Given the description of an element on the screen output the (x, y) to click on. 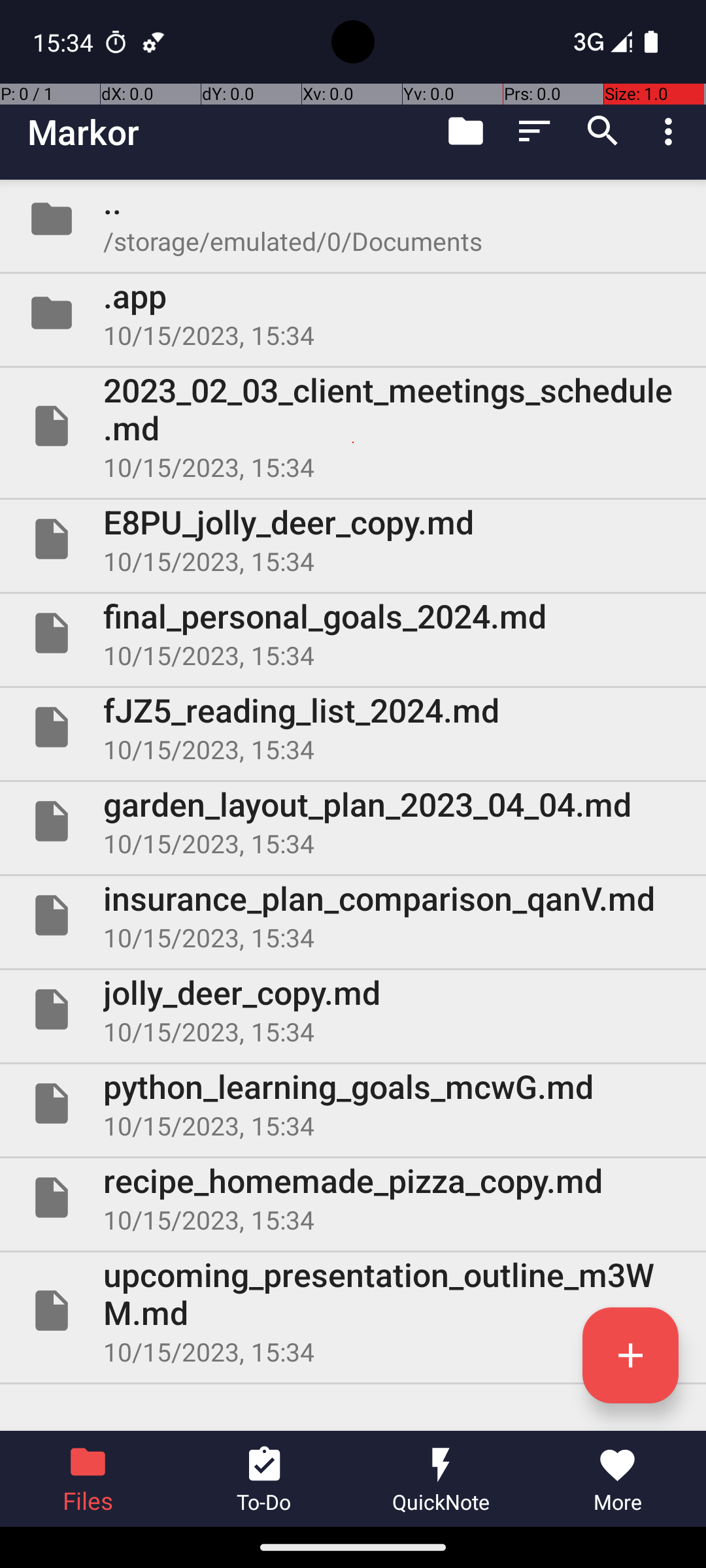
Folder .app  Element type: android.widget.LinearLayout (353, 312)
File 2023_02_03_client_meetings_schedule.md  Element type: android.widget.LinearLayout (353, 425)
File E8PU_jolly_deer_copy.md  Element type: android.widget.LinearLayout (353, 538)
File final_personal_goals_2024.md  Element type: android.widget.LinearLayout (353, 632)
File fJZ5_reading_list_2024.md  Element type: android.widget.LinearLayout (353, 726)
File garden_layout_plan_2023_04_04.md  Element type: android.widget.LinearLayout (353, 821)
File insurance_plan_comparison_qanV.md  Element type: android.widget.LinearLayout (353, 915)
File jolly_deer_copy.md  Element type: android.widget.LinearLayout (353, 1009)
File python_learning_goals_mcwG.md  Element type: android.widget.LinearLayout (353, 1103)
File recipe_homemade_pizza_copy.md  Element type: android.widget.LinearLayout (353, 1197)
File upcoming_presentation_outline_m3WM.md  Element type: android.widget.LinearLayout (353, 1310)
